Given the description of an element on the screen output the (x, y) to click on. 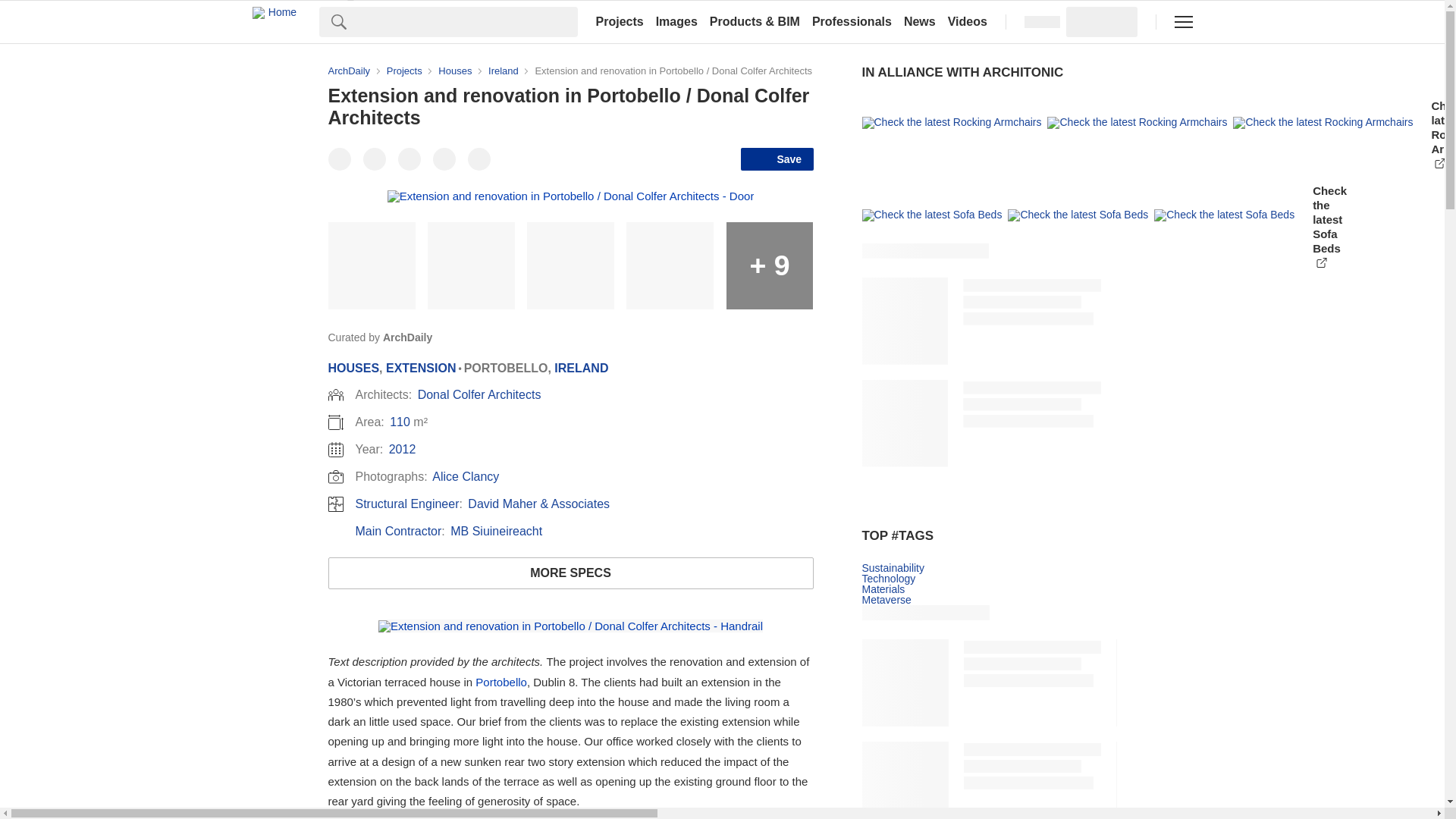
Projects (619, 21)
Professionals (852, 21)
Videos (967, 21)
News (920, 21)
Images (676, 21)
